Given the description of an element on the screen output the (x, y) to click on. 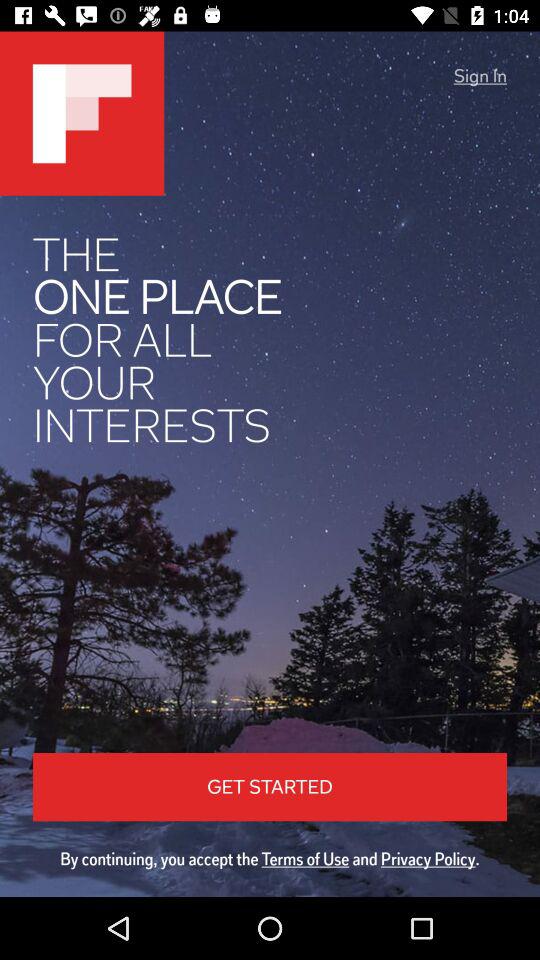
turn on the item below the get started item (270, 858)
